Given the description of an element on the screen output the (x, y) to click on. 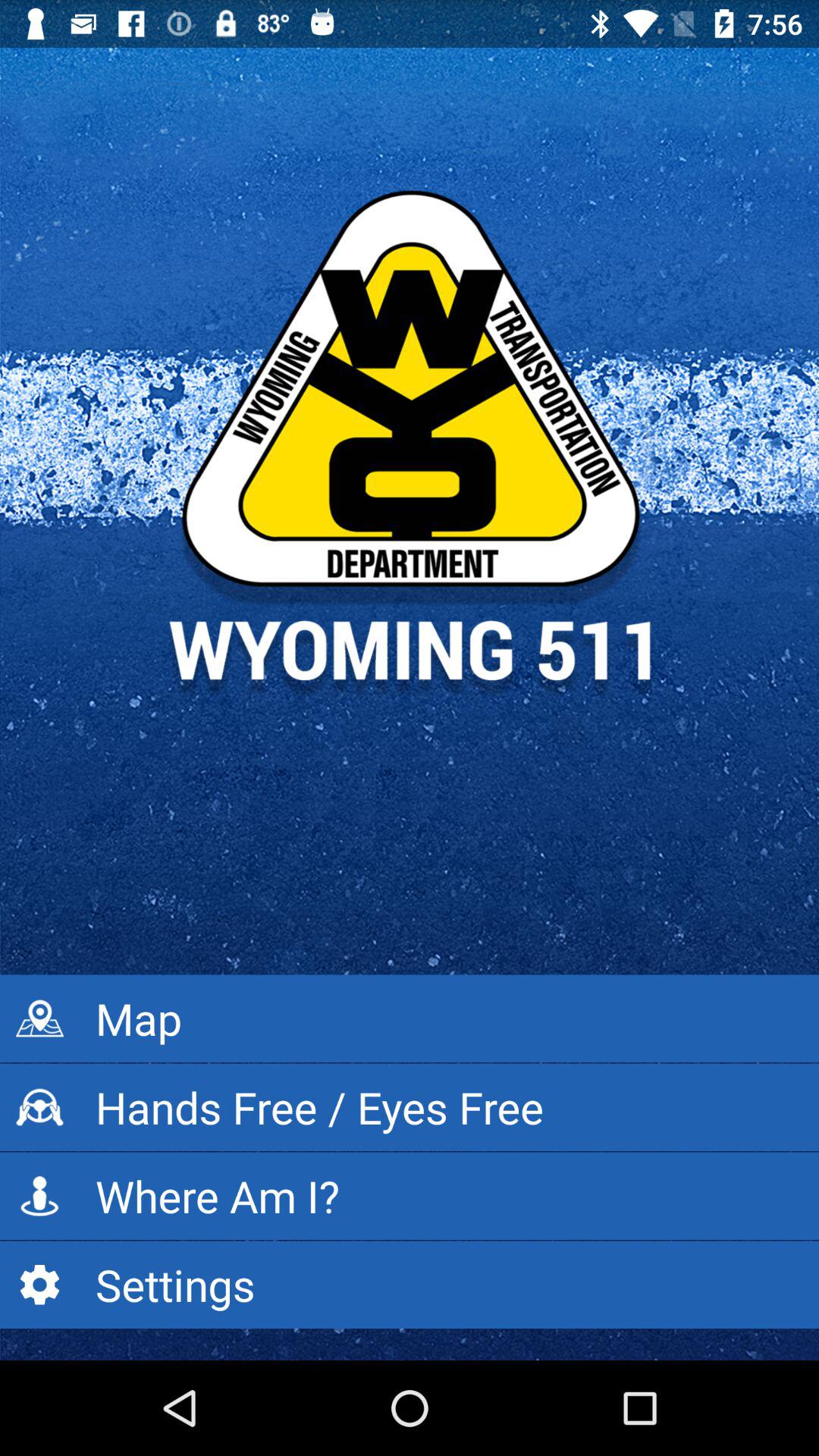
open the item below the where am i? item (409, 1284)
